Given the description of an element on the screen output the (x, y) to click on. 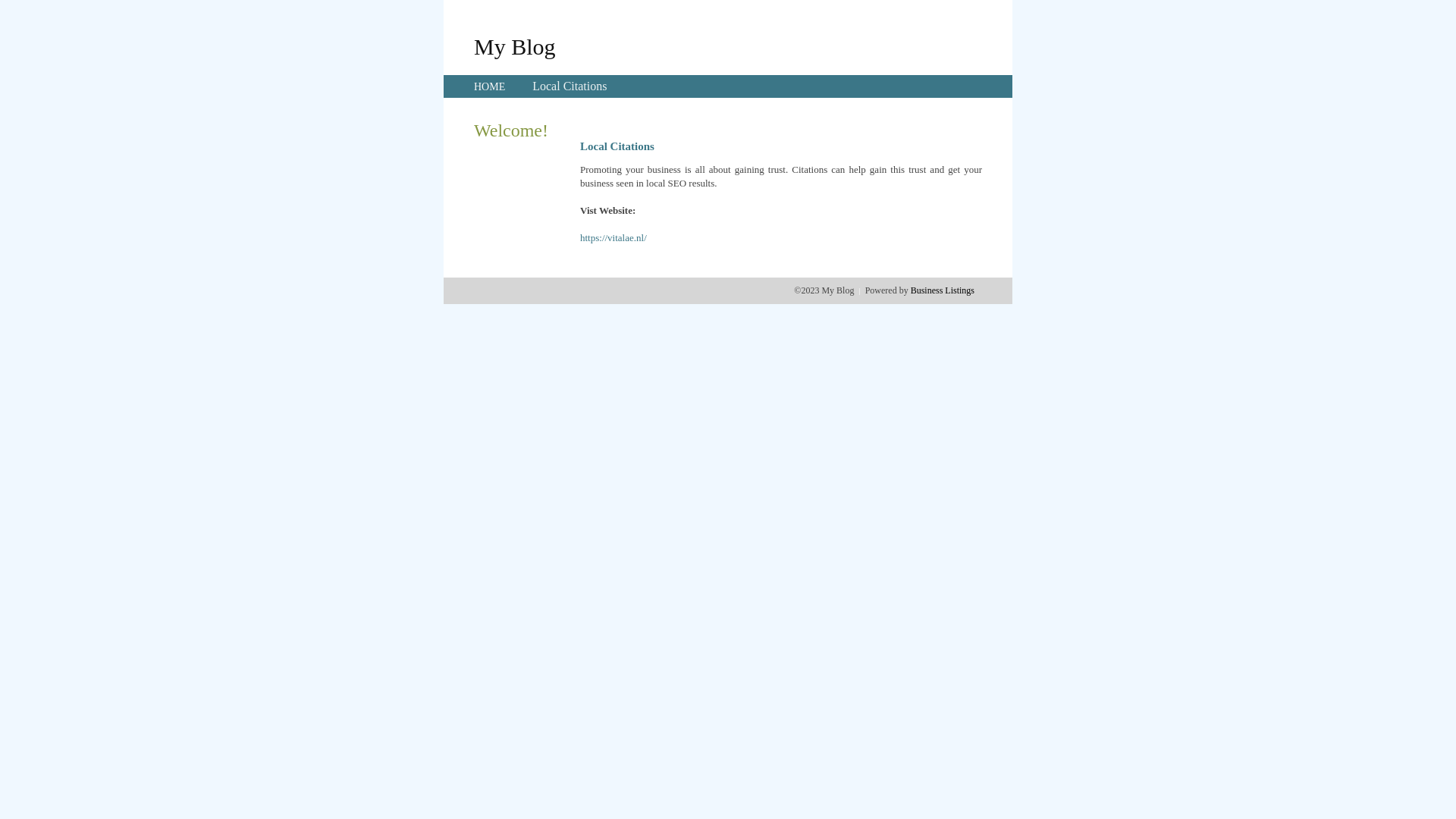
https://vitalae.nl/ Element type: text (613, 237)
Business Listings Element type: text (942, 290)
HOME Element type: text (489, 86)
Local Citations Element type: text (569, 85)
My Blog Element type: text (514, 46)
